Given the description of an element on the screen output the (x, y) to click on. 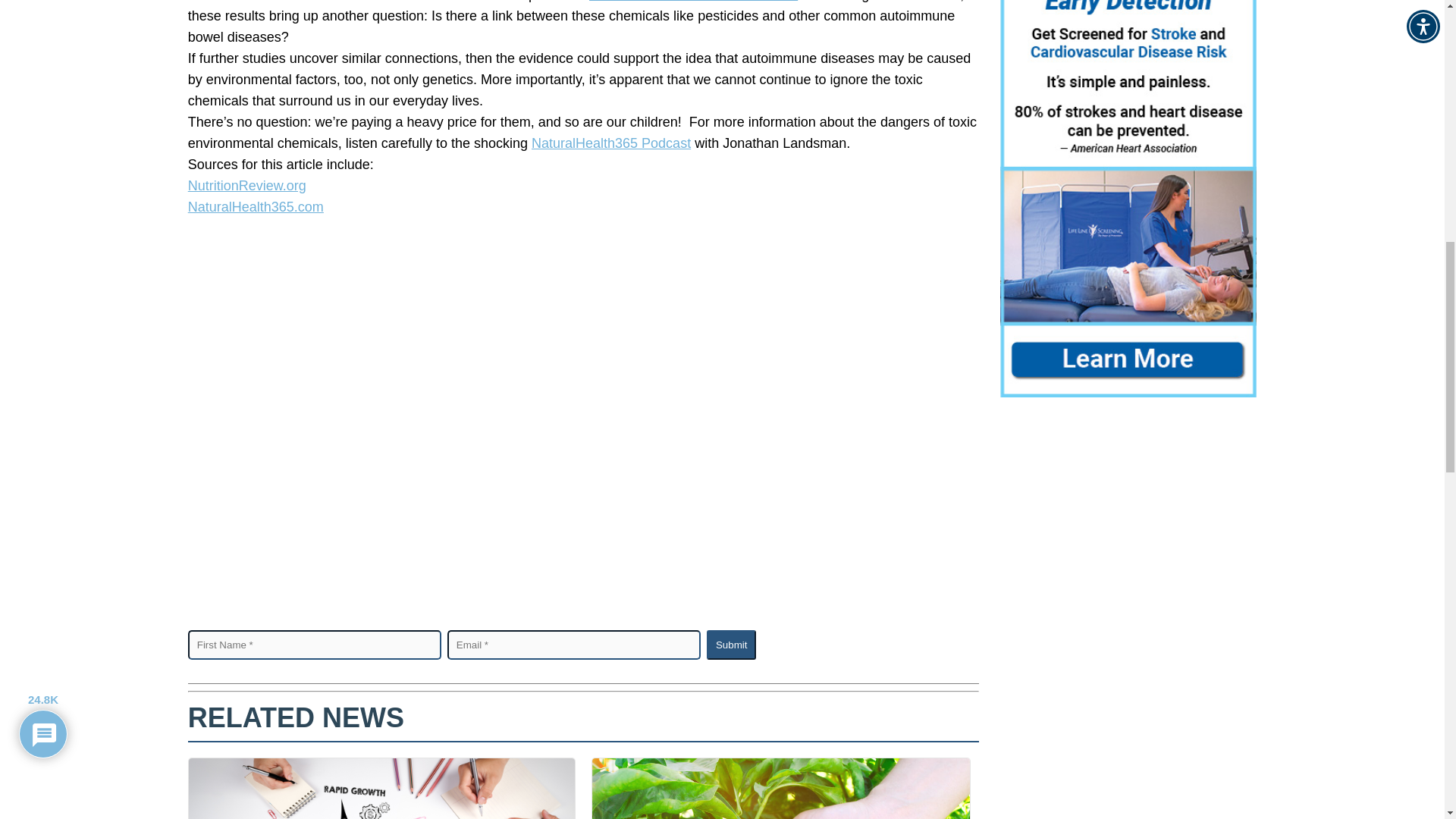
NaturalHealth365.com (255, 206)
NaturalHealth365 Podcast (610, 142)
toxic chemicals in the environment (693, 1)
Submit (730, 644)
NutritionReview.org (246, 185)
Submit (730, 644)
